Given the description of an element on the screen output the (x, y) to click on. 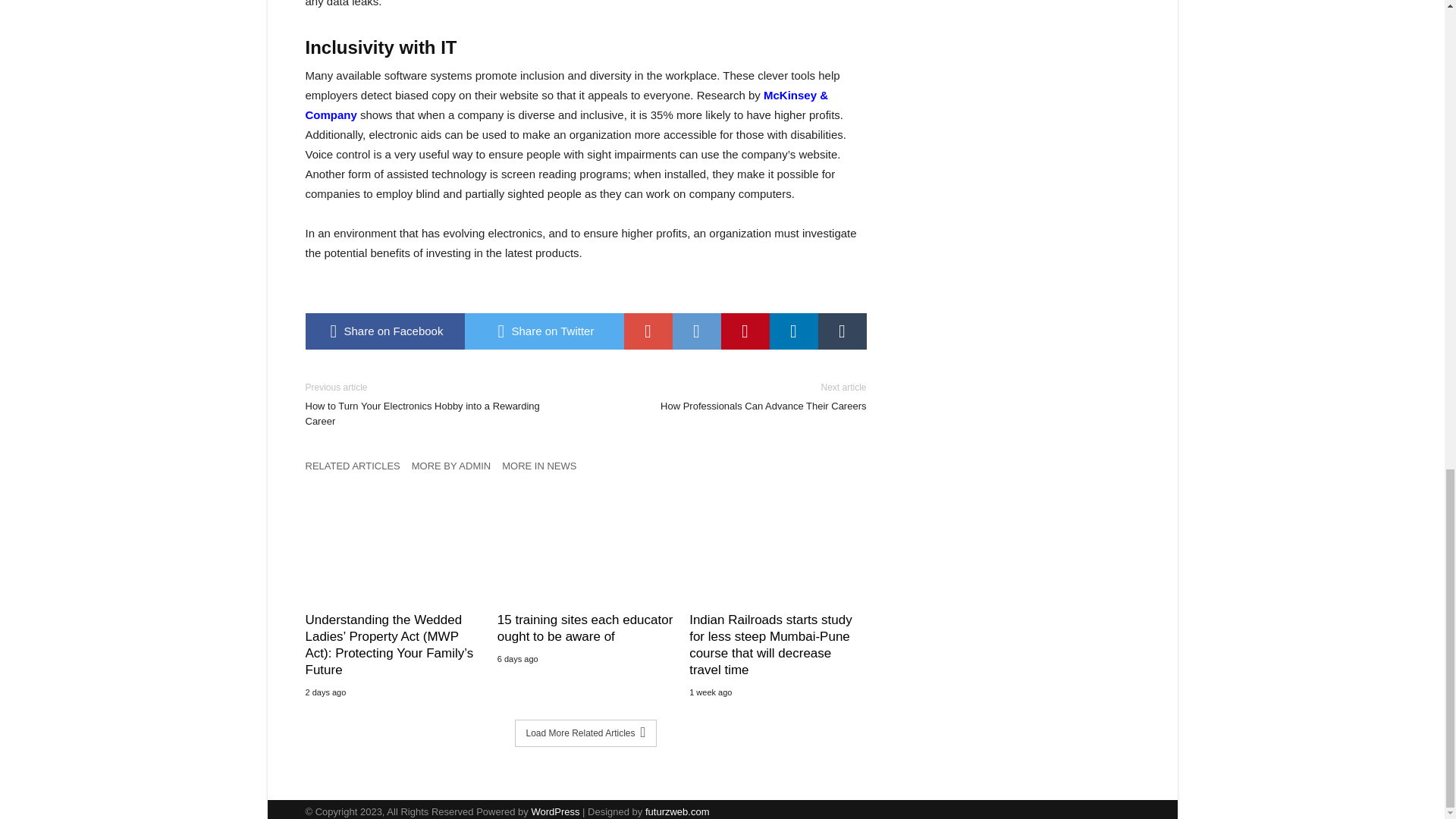
facebook (384, 330)
Share on Twitter (543, 330)
Share on Pinterest (737, 397)
Share on Tumblr (744, 330)
reddit (841, 330)
Share on Facebook (695, 330)
Share on Reddit (384, 330)
Share on Linkedin (695, 330)
